Given the description of an element on the screen output the (x, y) to click on. 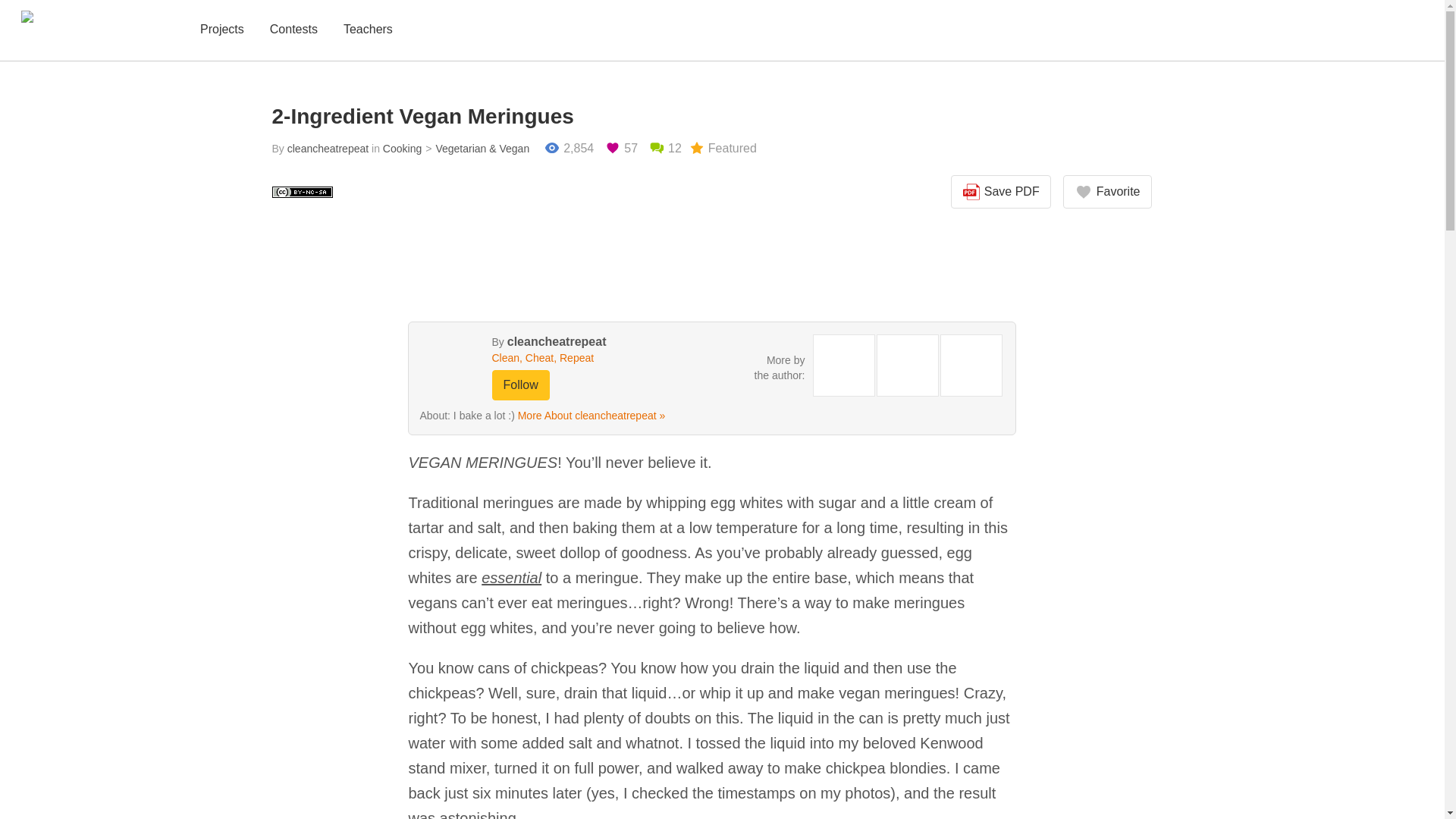
Contests (293, 30)
Save PDF (1000, 191)
Favorite (1106, 191)
Clean, Cheat, Repeat (570, 358)
12 (665, 148)
cleancheatrepeat (327, 148)
Follow (520, 385)
Teachers (368, 30)
Cooking (402, 148)
cleancheatrepeat (556, 341)
Projects (221, 30)
